Given the description of an element on the screen output the (x, y) to click on. 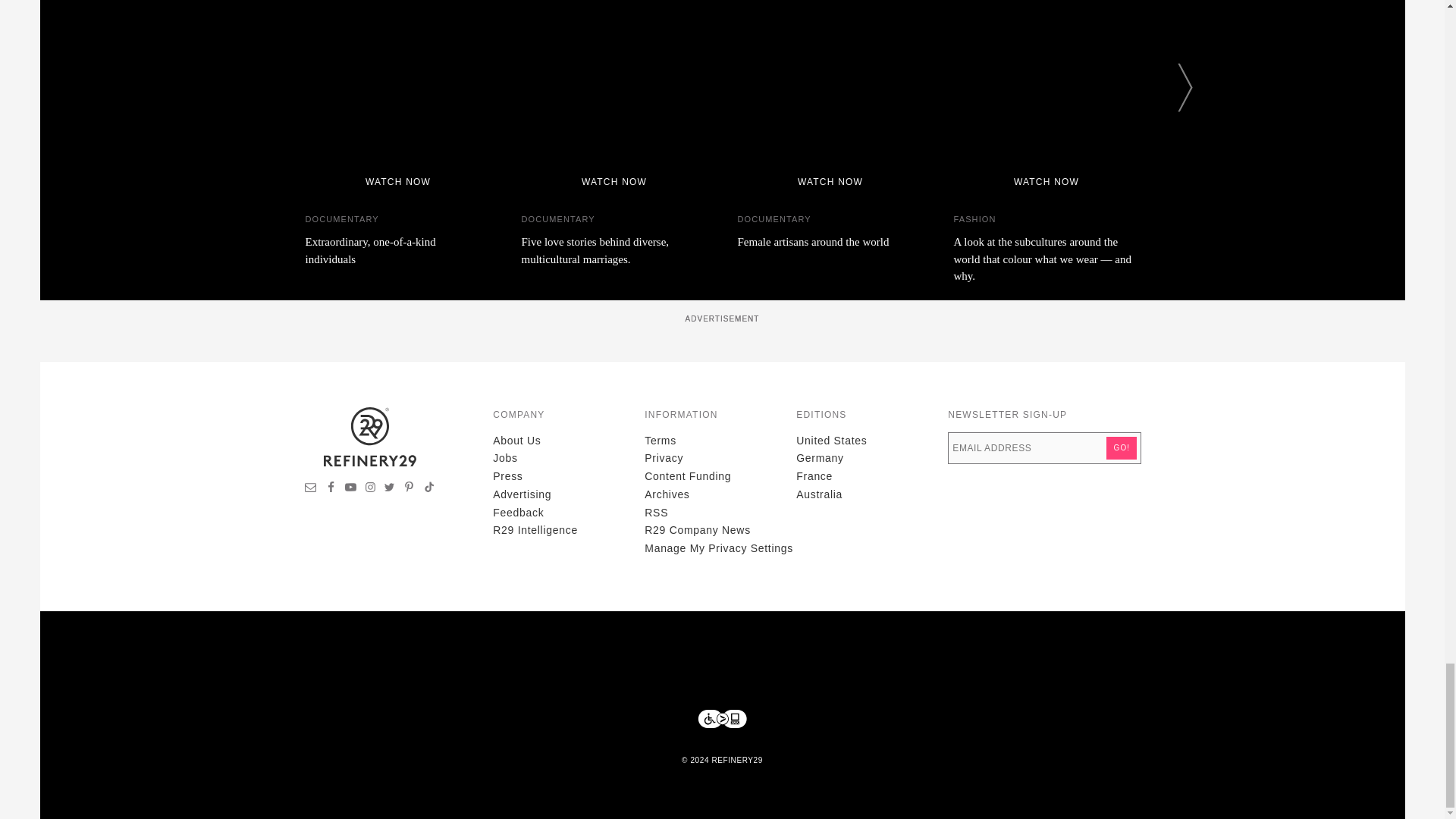
Sign up for newsletters (310, 489)
Visit Refinery29 on YouTube (350, 489)
Visit Refinery29 on TikTok (428, 489)
